Given the description of an element on the screen output the (x, y) to click on. 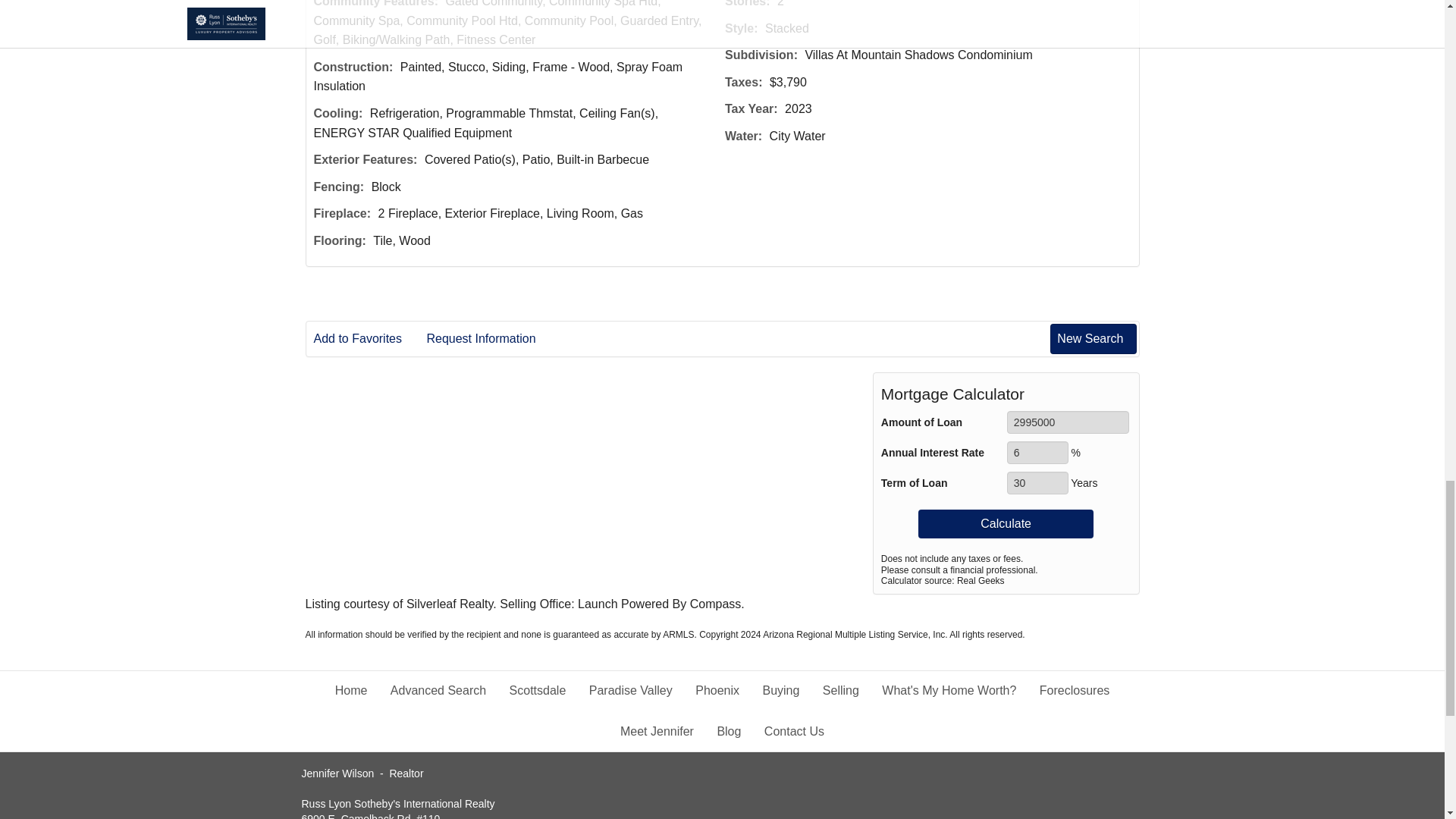
30 (1037, 482)
2995000 (1068, 422)
6 (1037, 452)
